Given the description of an element on the screen output the (x, y) to click on. 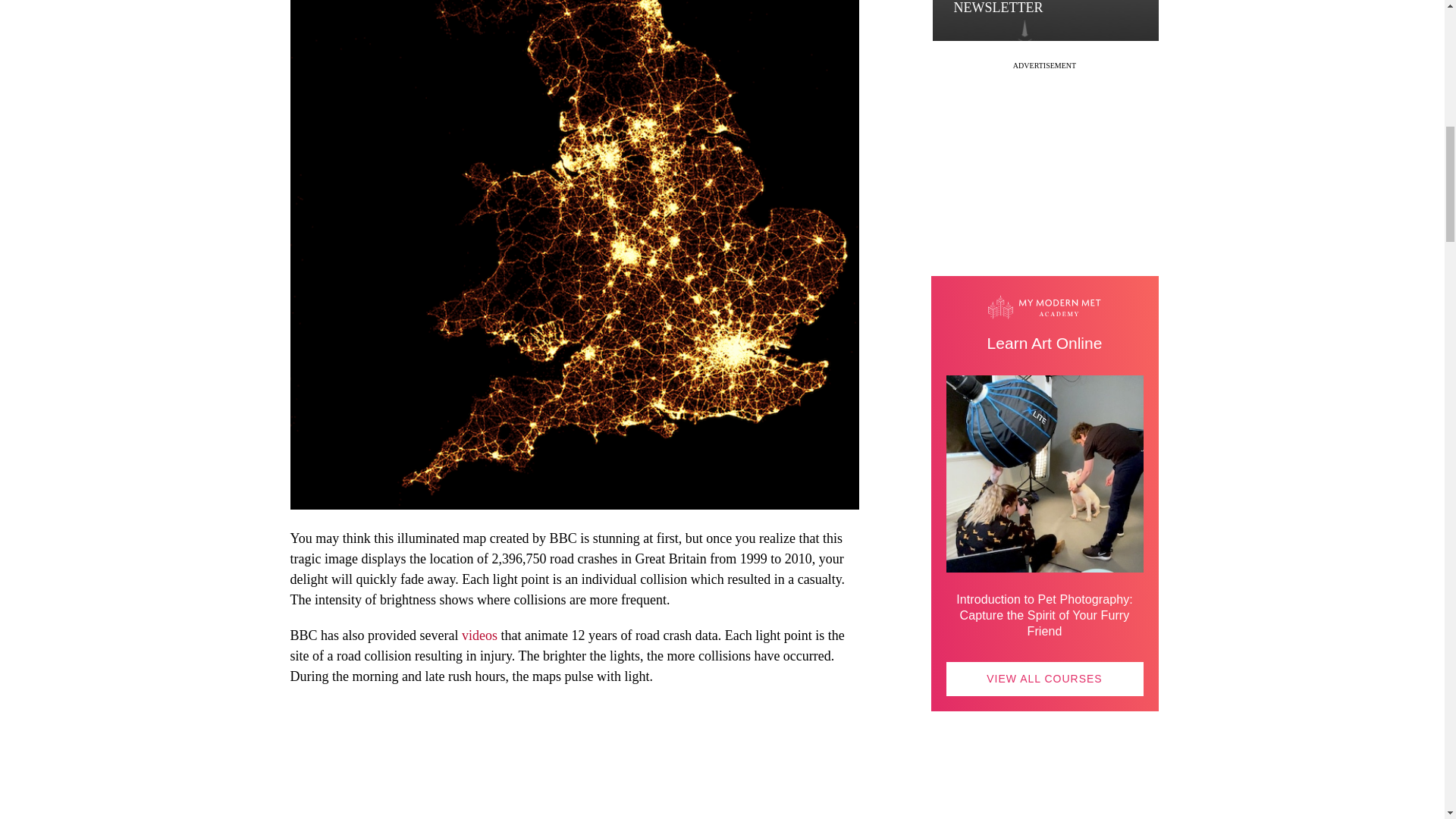
Visit Our Store (1044, 807)
